Given the description of an element on the screen output the (x, y) to click on. 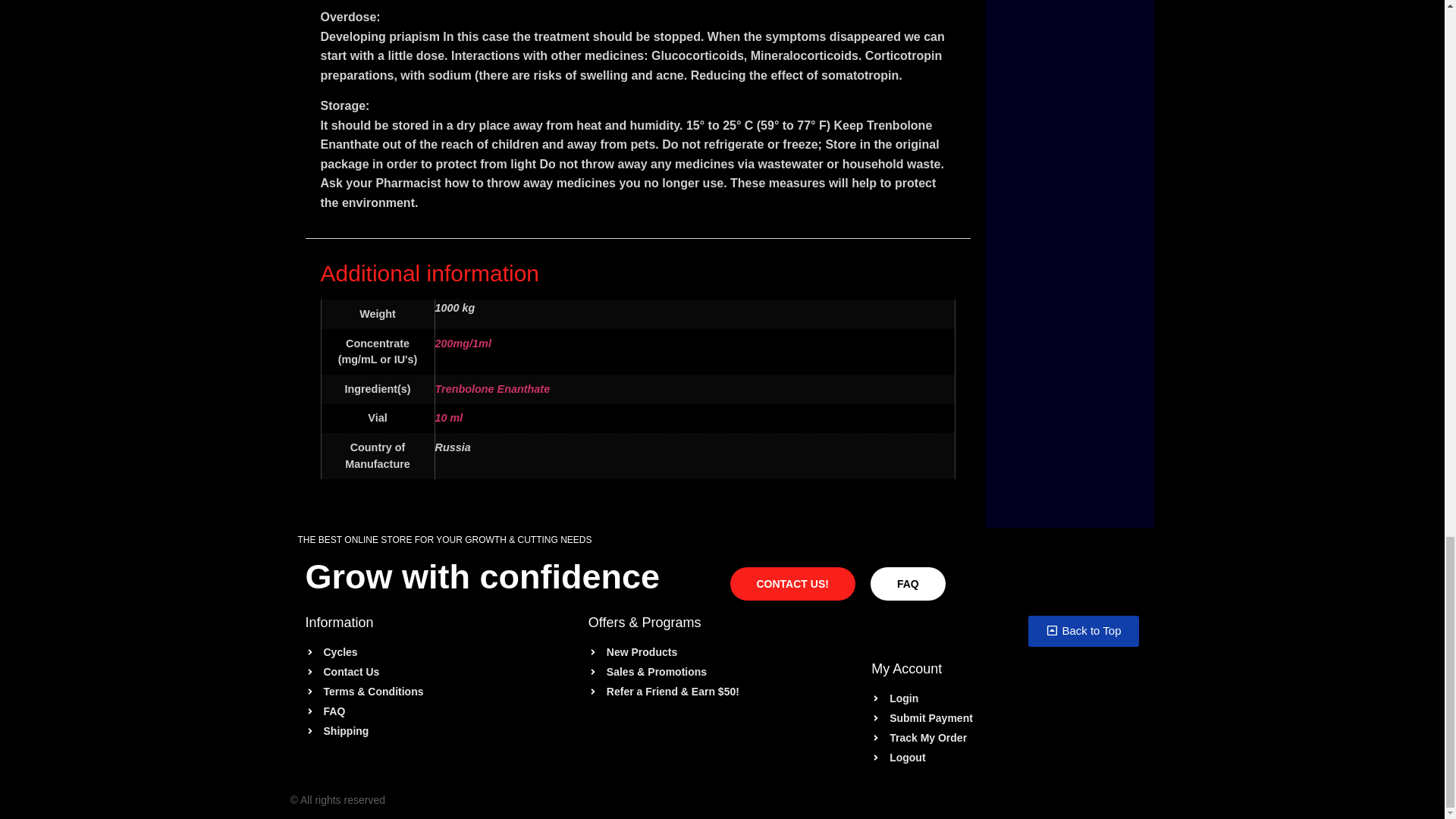
New Products (722, 651)
Track My Order (1004, 738)
CONTACT US! (791, 582)
Trenbolone Enanthate (492, 388)
FAQ (907, 582)
Logout (1004, 757)
Login (1004, 698)
Contact Us (438, 671)
10 ml (449, 417)
Shipping (438, 730)
